Given the description of an element on the screen output the (x, y) to click on. 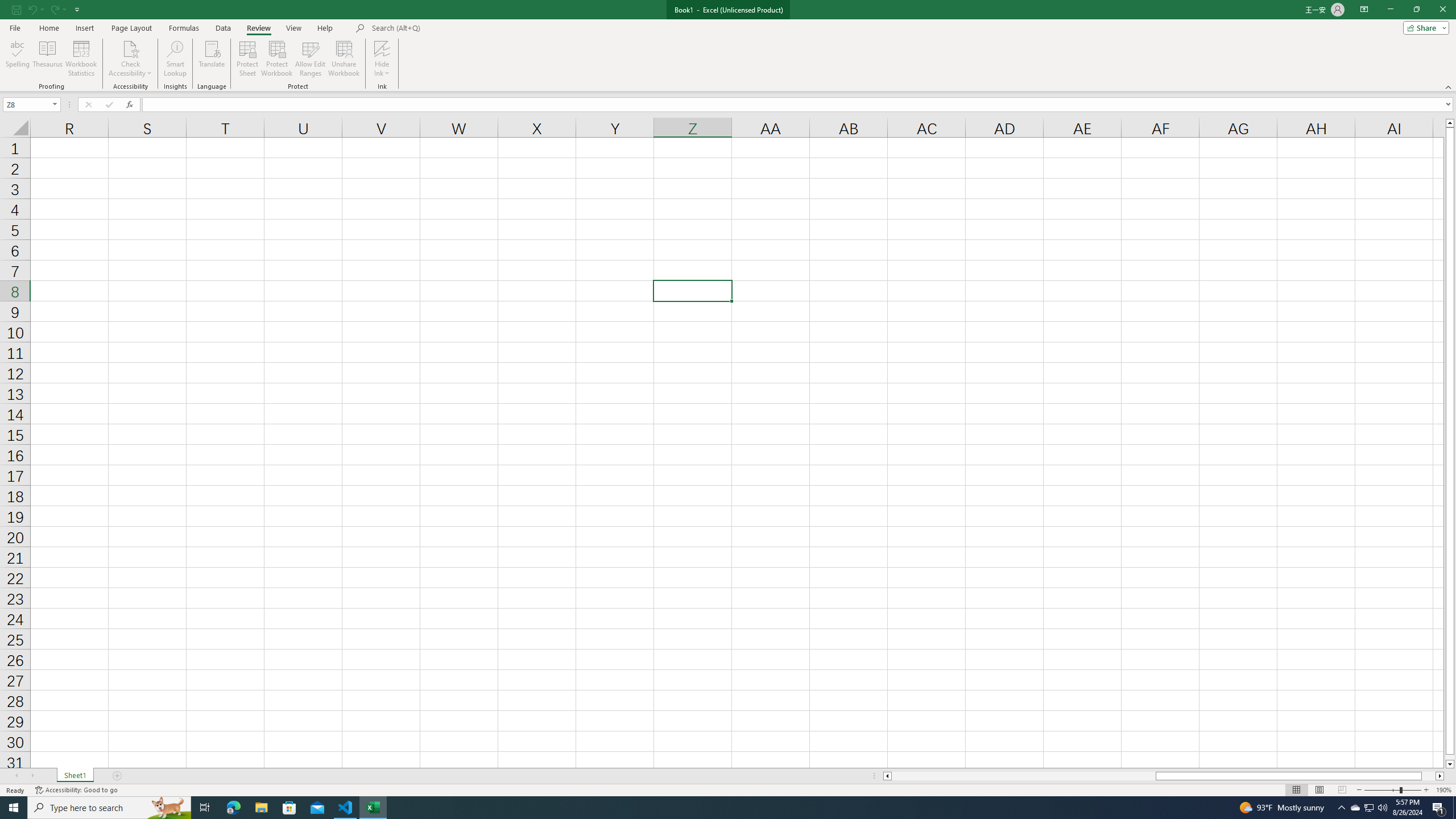
Open (54, 104)
Line down (1449, 764)
Zoom (1392, 790)
Share (1423, 27)
Line up (1449, 122)
Protect Sheet... (247, 58)
Close (1442, 9)
More Options (381, 68)
Hide Ink (381, 58)
Page left (1023, 775)
Page Layout (131, 28)
View (293, 28)
File Tab (15, 27)
Formulas (184, 28)
Scroll Right (32, 775)
